Given the description of an element on the screen output the (x, y) to click on. 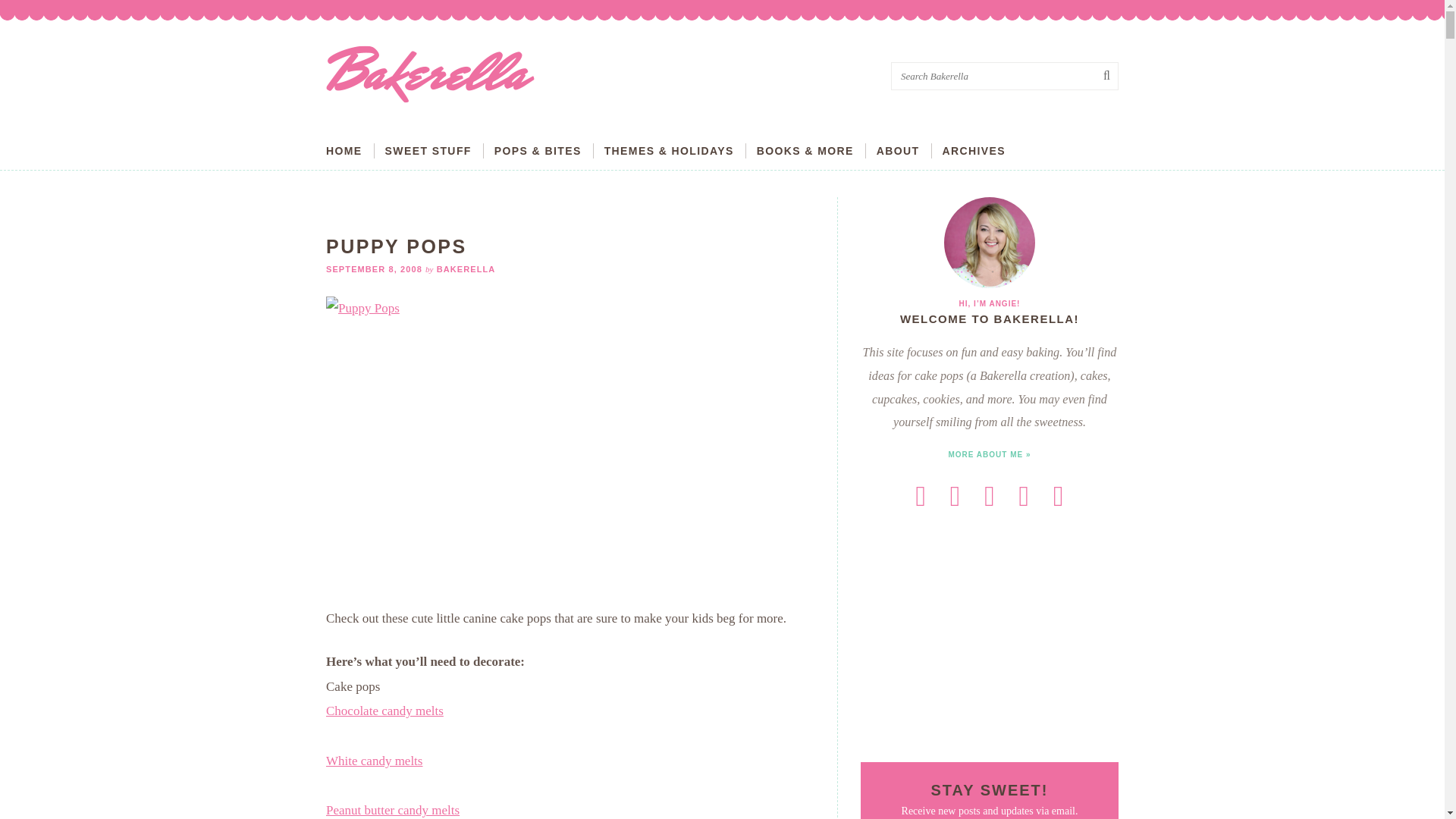
Twitter (955, 495)
Pinterest (1024, 495)
Instagram (1058, 495)
Facebook (989, 495)
RSS (920, 495)
